Given the description of an element on the screen output the (x, y) to click on. 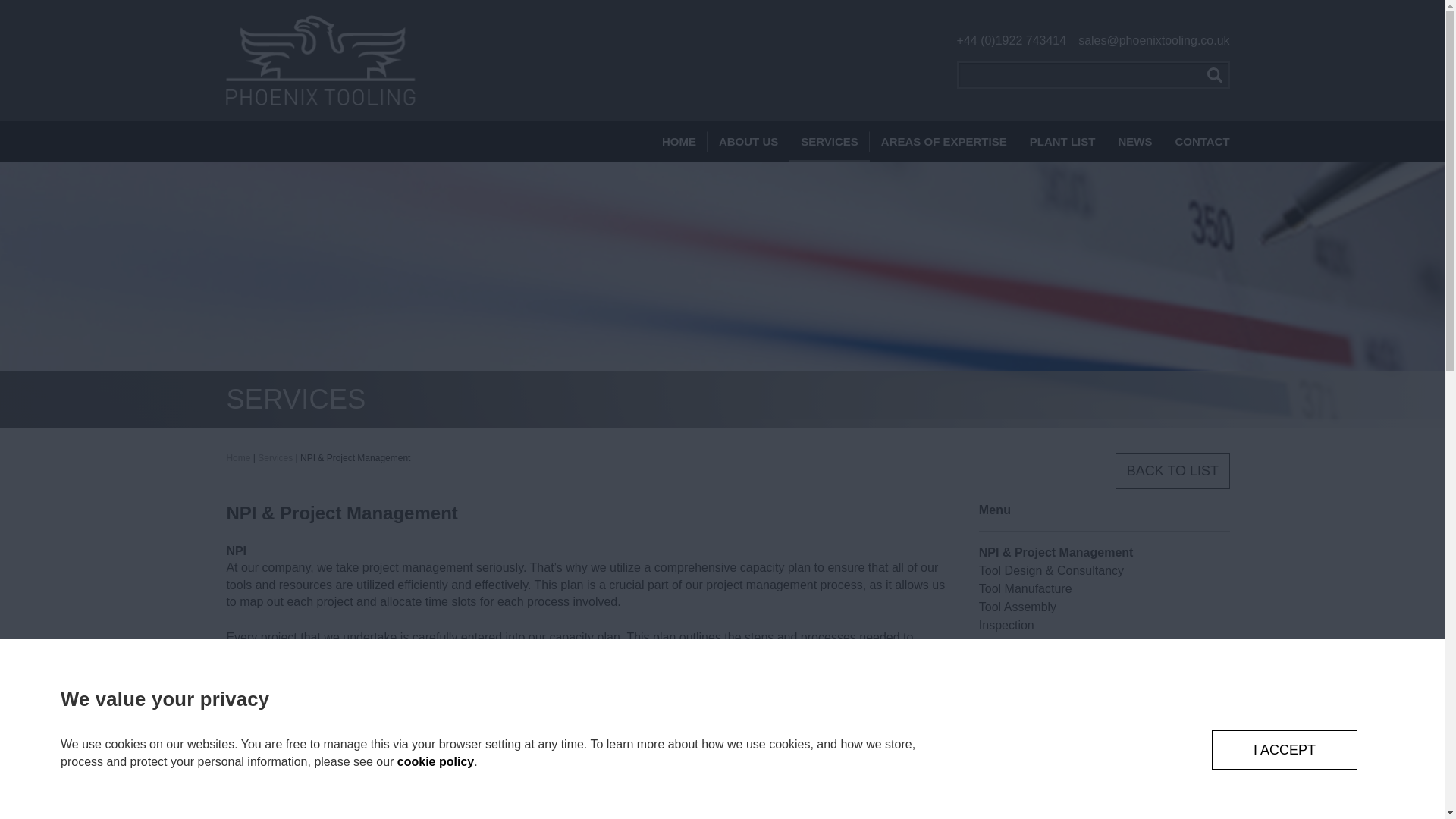
SUBMIT (1214, 74)
SERVICES (829, 141)
AREAS OF EXPERTISE (943, 141)
HOME (684, 141)
Phoenix Tooling (319, 60)
ABOUT US (748, 141)
NEWS (1134, 141)
PLANT LIST (1061, 141)
